Given the description of an element on the screen output the (x, y) to click on. 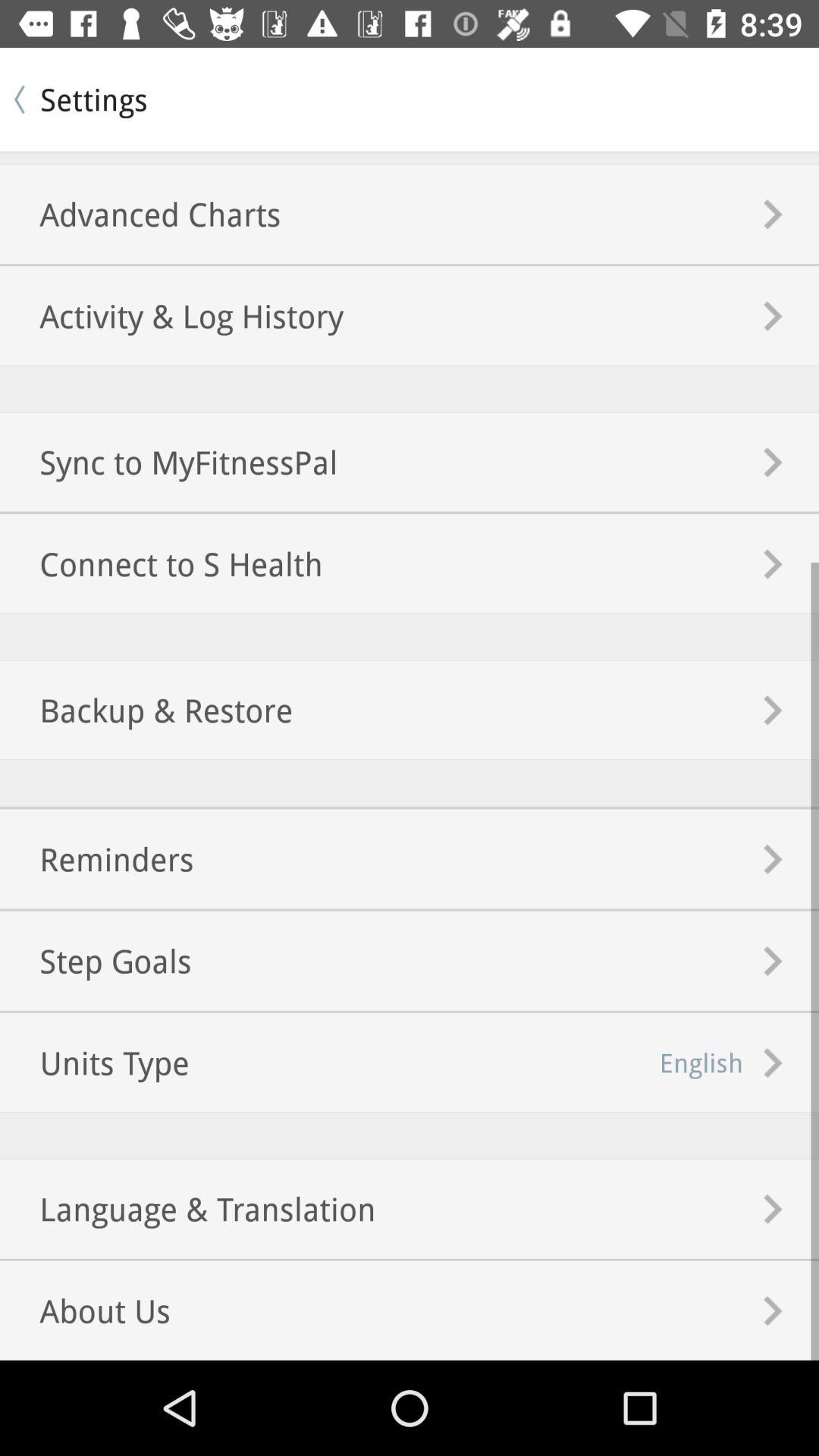
jump to the advanced charts (140, 213)
